Given the description of an element on the screen output the (x, y) to click on. 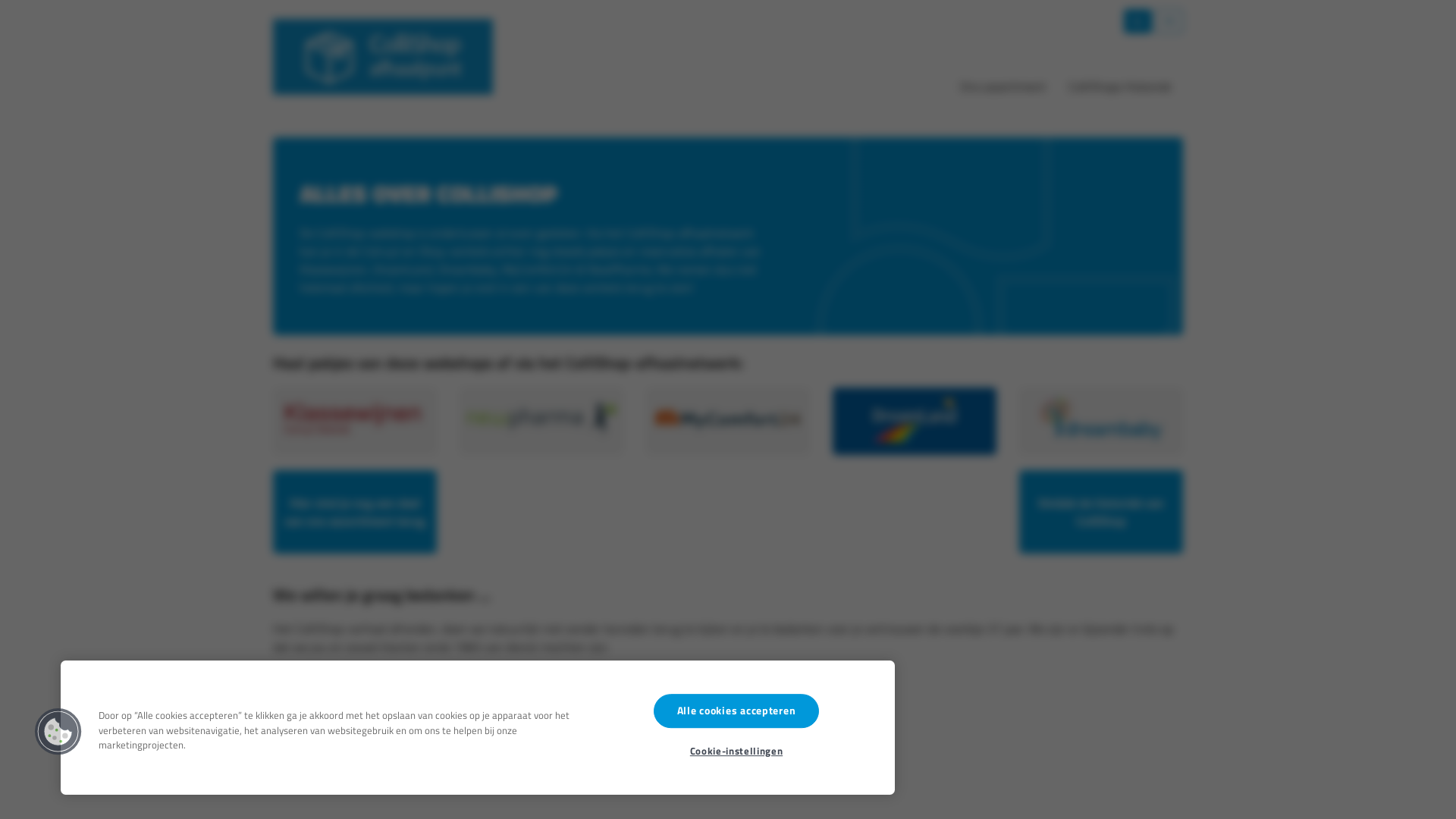
FR Element type: text (1168, 20)
NL Element type: text (1138, 20)
Hier vind je nog een deel van ons assortiment terug Element type: text (354, 511)
ColliShops Historiek Element type: text (1119, 86)
Alle cookies accepteren Element type: text (736, 710)
Ontdek de historiek van ColliShop Element type: text (1101, 511)
Cookies Button Element type: text (58, 731)
Cookie-instellingen Element type: text (736, 747)
Ons assortiment Element type: text (1002, 86)
